Given the description of an element on the screen output the (x, y) to click on. 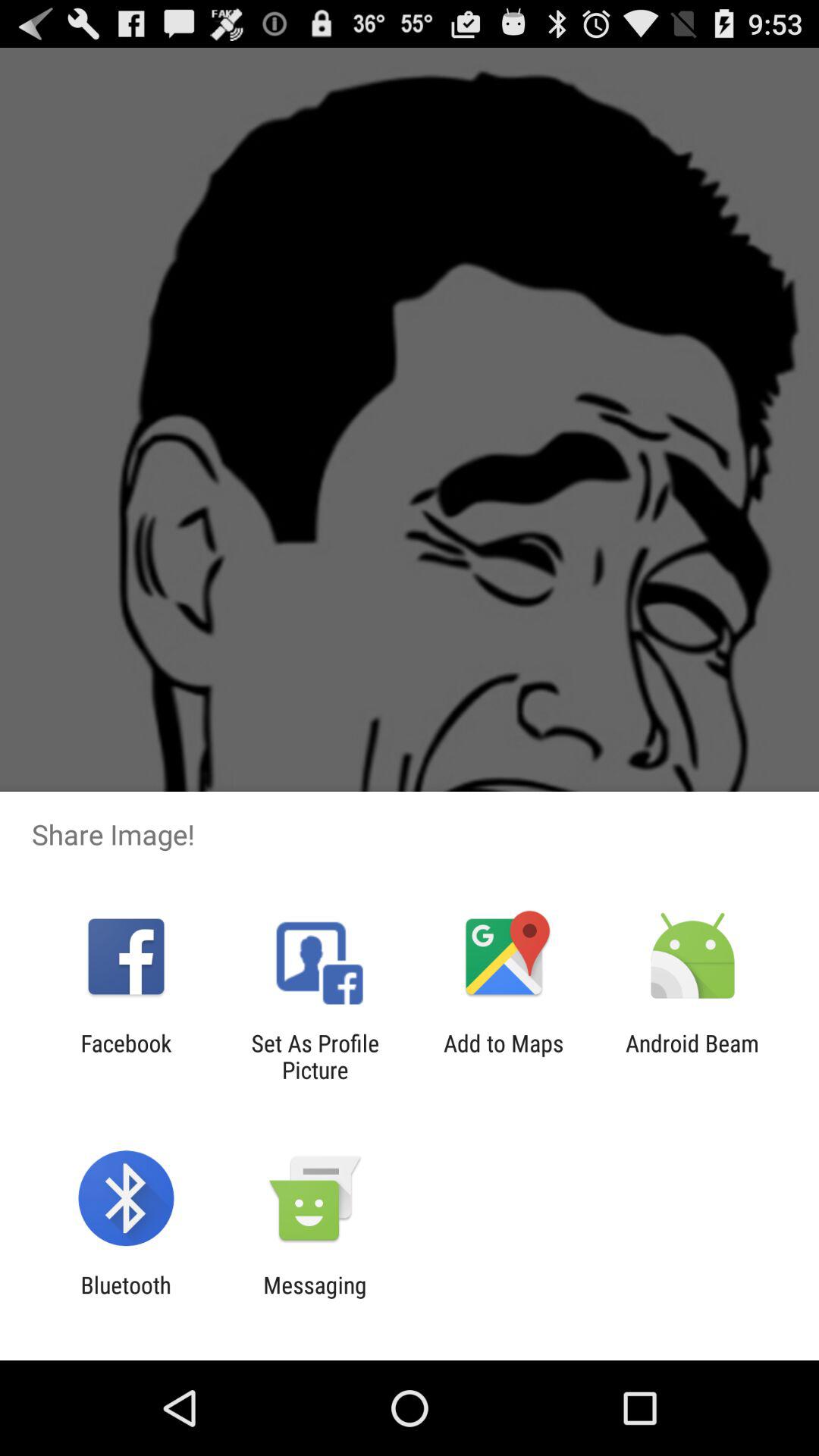
flip until add to maps icon (503, 1056)
